Given the description of an element on the screen output the (x, y) to click on. 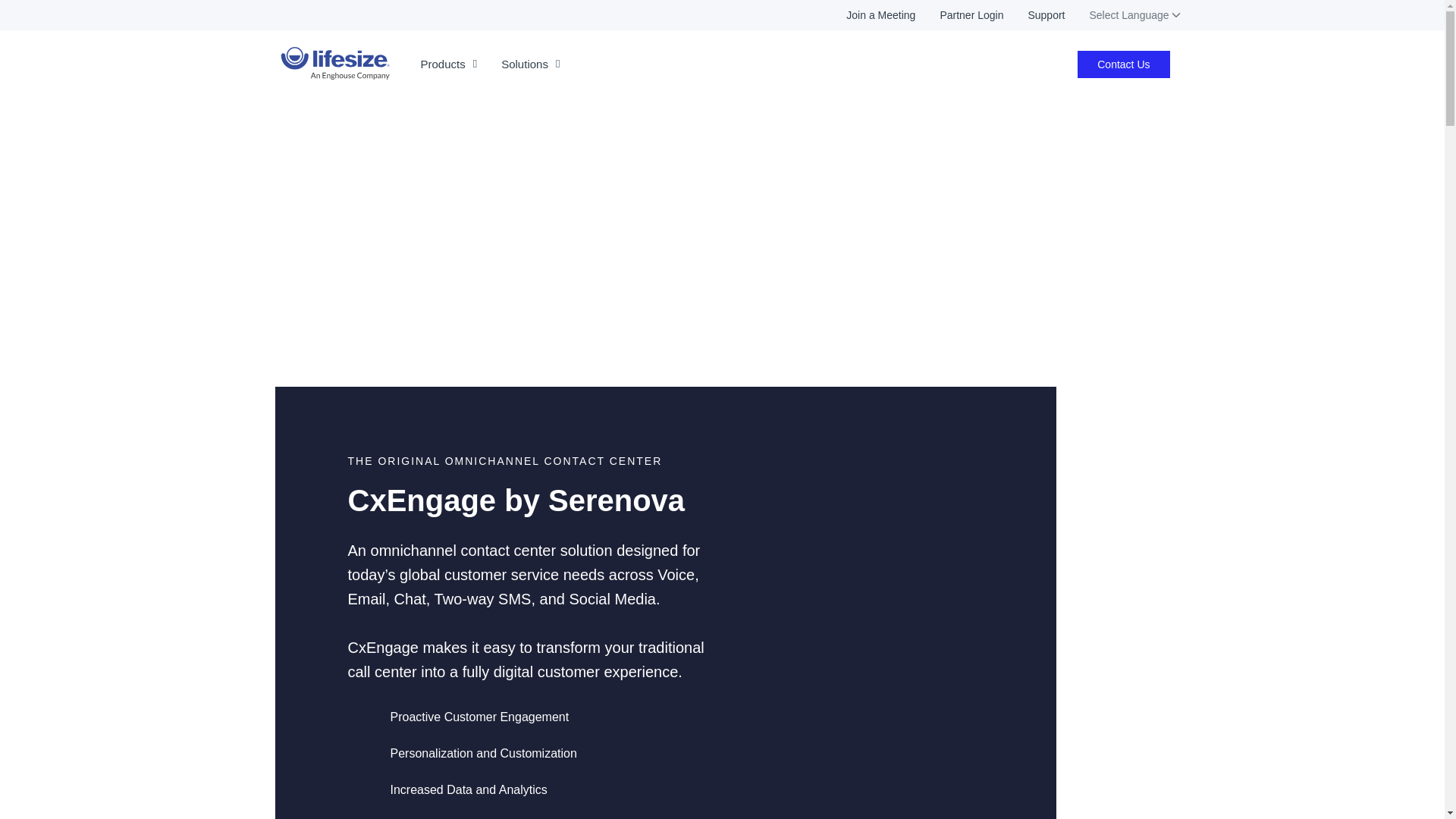
Partner Login (959, 14)
Solutions (530, 63)
Join a Meeting (868, 14)
Products (448, 63)
Products (448, 63)
Support (1033, 14)
Solutions (530, 63)
